Given the description of an element on the screen output the (x, y) to click on. 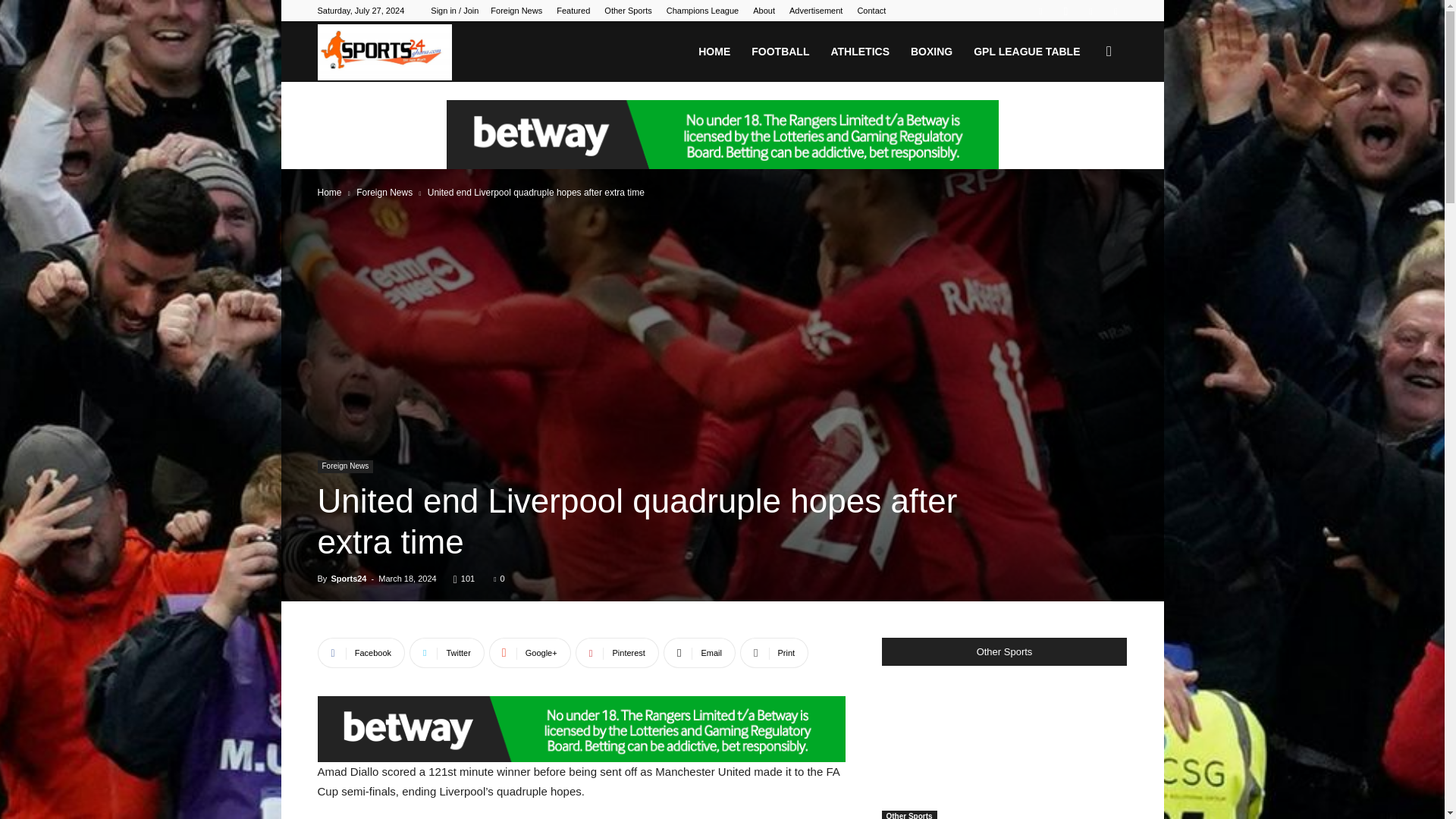
Foreign News (515, 10)
About (763, 10)
Search (1085, 124)
BOXING (930, 51)
Instagram (1065, 10)
Featured (572, 10)
Contact (871, 10)
Champions League (702, 10)
View all posts in Foreign News (384, 192)
Twitter (1114, 10)
Sports 24 Ghana (384, 51)
Advertisement (816, 10)
Facebook (1040, 10)
Sports 24 Ghana (384, 52)
Linkedin (1090, 10)
